Given the description of an element on the screen output the (x, y) to click on. 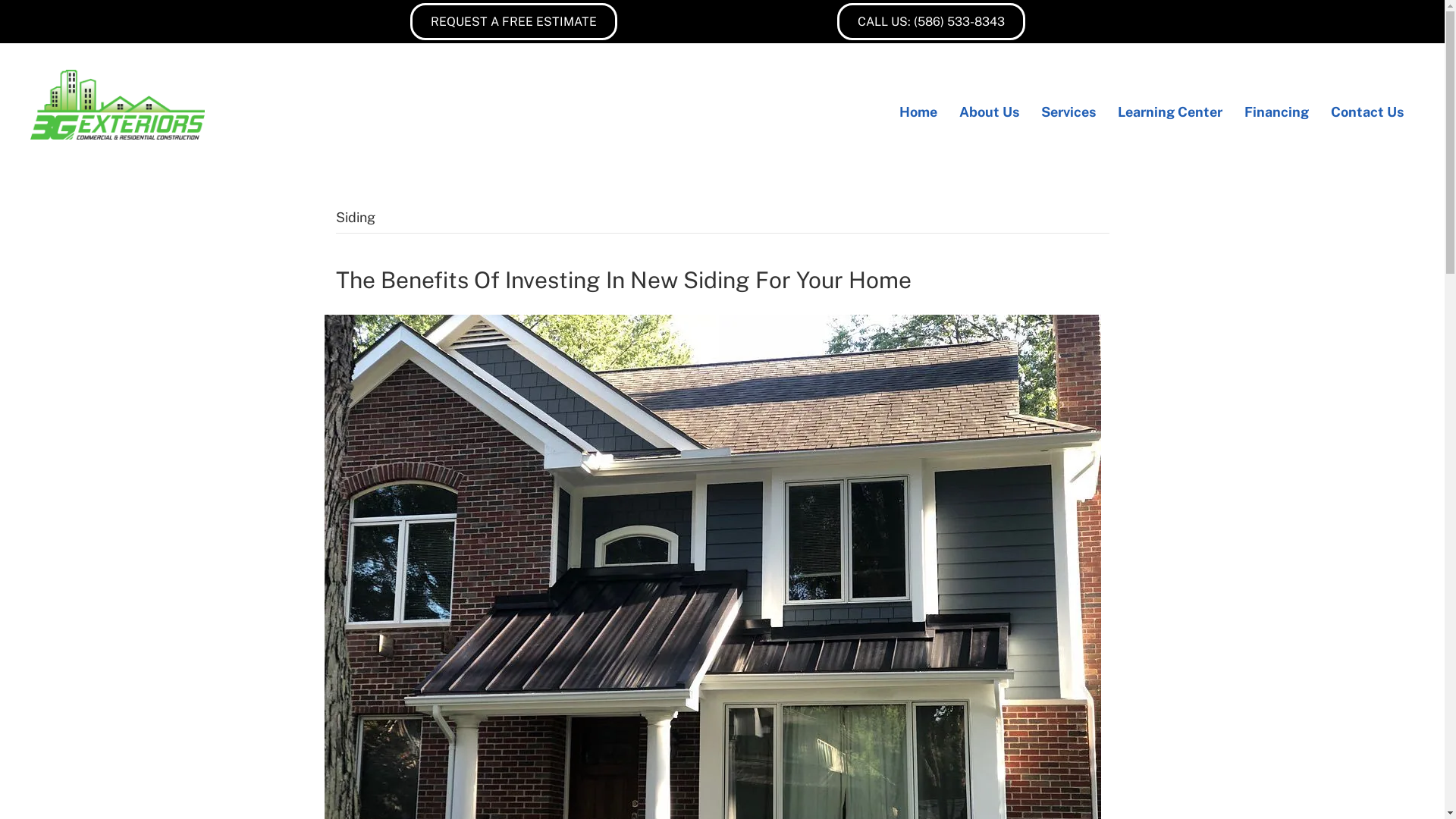
Home Element type: text (917, 111)
The Benefits Of Investing In New Siding For Your Home Element type: text (622, 279)
CALL US: (586) 533-8343 Element type: text (931, 21)
Financing Element type: text (1276, 111)
Contact Us Element type: text (1367, 111)
About Us Element type: text (988, 111)
Learning Center Element type: text (1170, 111)
REQUEST A FREE ESTIMATE Element type: text (513, 21)
3G-logo Element type: hover (117, 104)
The Benefits Of Investing In New Siding For Your Home Element type: hover (712, 604)
Services Element type: text (1068, 111)
